Given the description of an element on the screen output the (x, y) to click on. 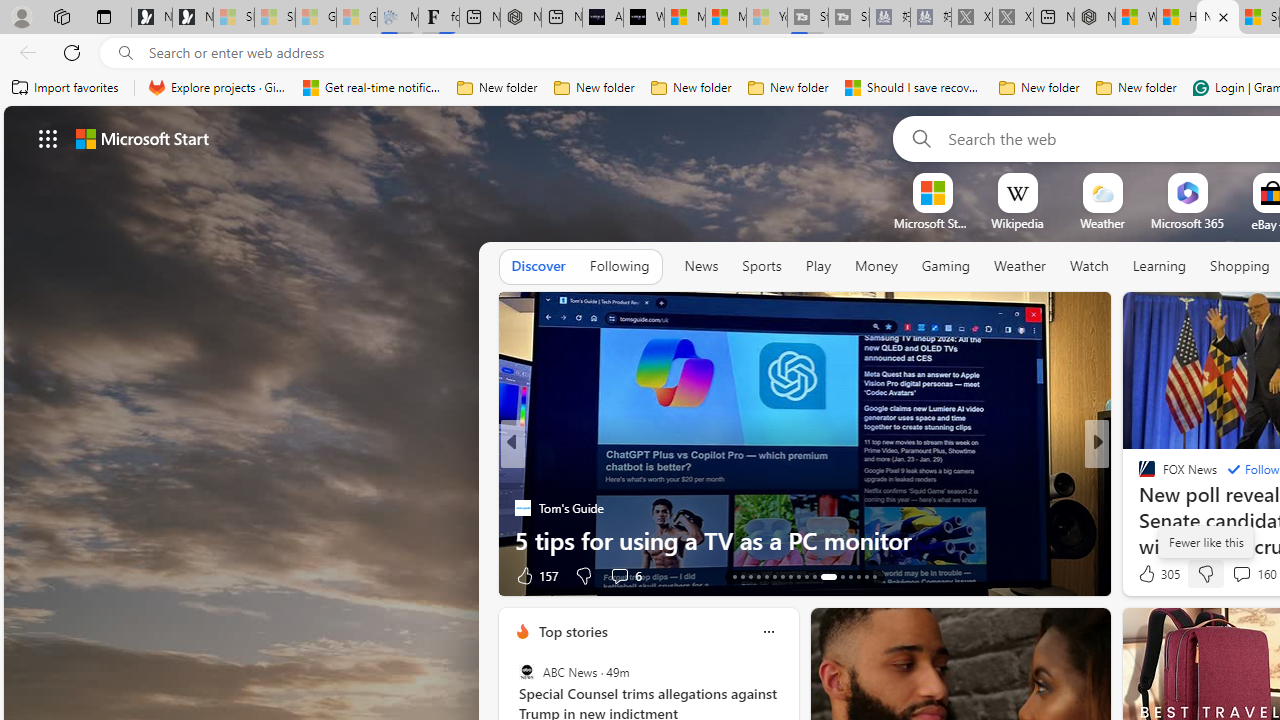
Dislike (1204, 574)
Gaming (945, 265)
AI Voice Changer for PC and Mac - Voice.ai (602, 17)
5 tips for using a TV as a PC monitor (804, 539)
AutomationID: tab-24 (827, 576)
Discover (538, 267)
Microsoft start (142, 138)
View comments 48 Comment (11, 575)
AutomationID: waffle (47, 138)
View comments 107 Comment (1234, 575)
Weather (1019, 267)
ABC News (526, 672)
More options (768, 631)
Shopping (1240, 265)
Money (876, 267)
